Given the description of an element on the screen output the (x, y) to click on. 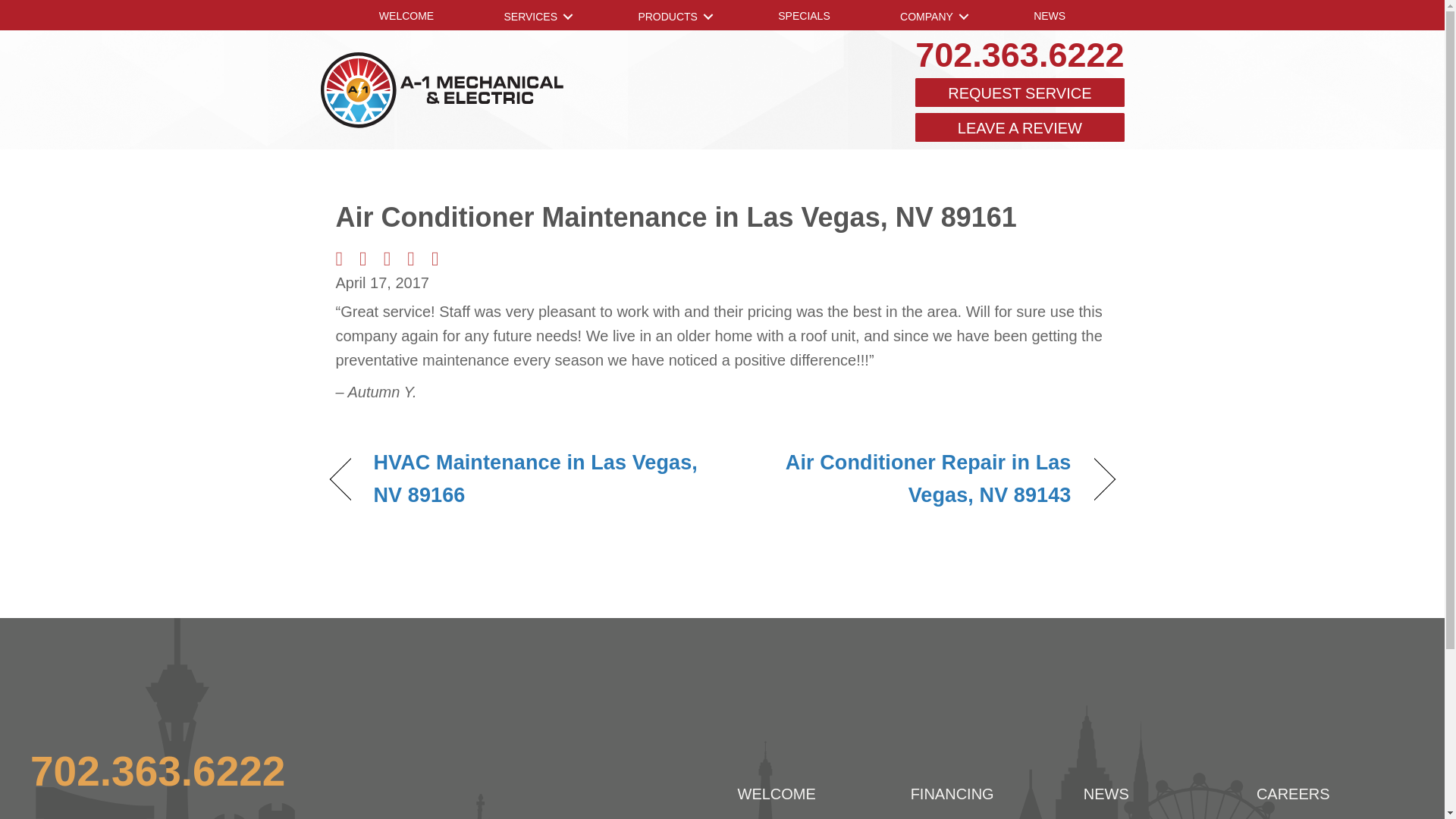
SPECIALS (803, 16)
COMPANY (931, 16)
SERVICES (535, 16)
WELCOME (406, 16)
PRODUCTS (673, 16)
